Given the description of an element on the screen output the (x, y) to click on. 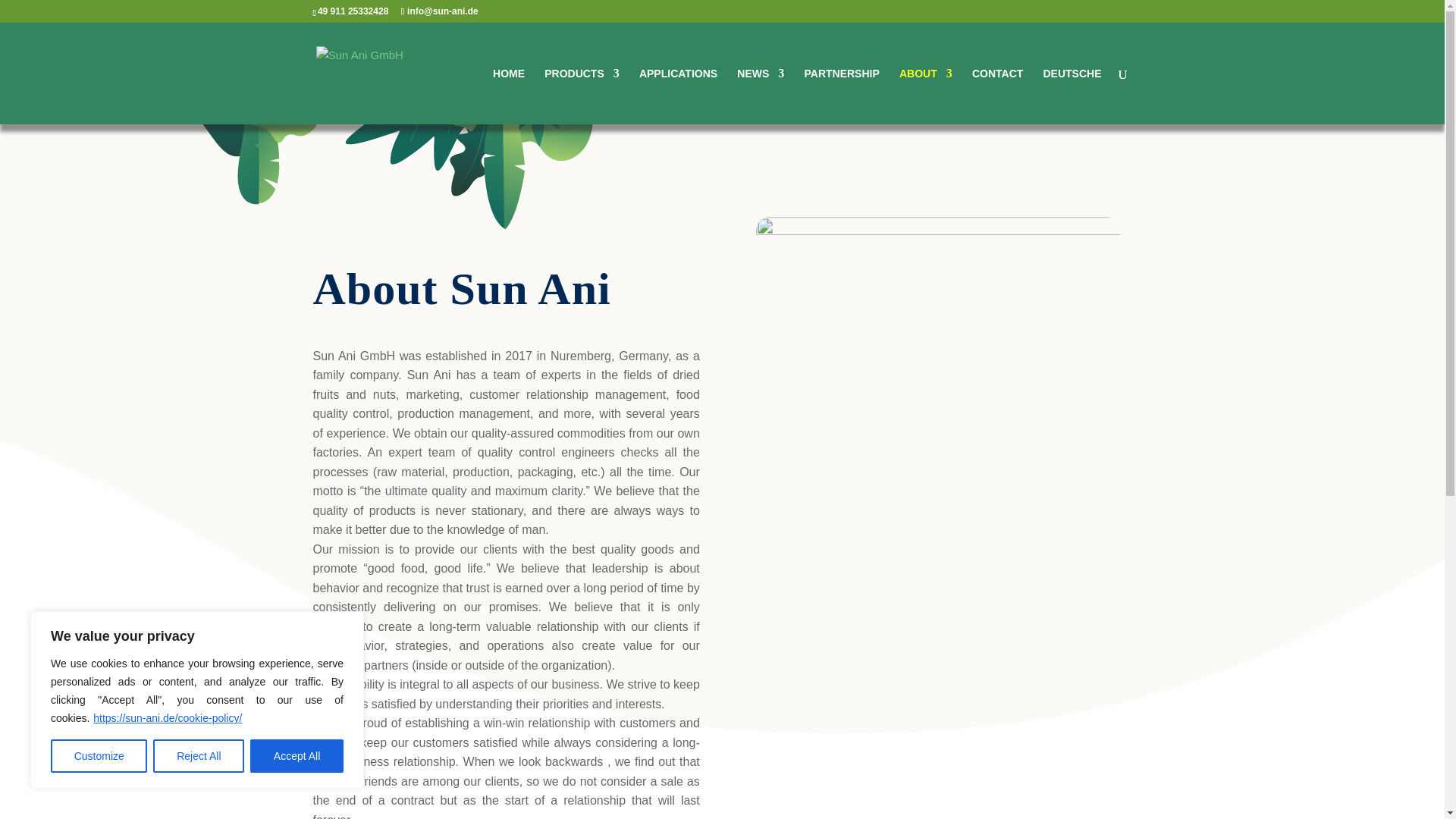
DEUTSCHE (1071, 95)
CONTACT (997, 95)
PARTNERSHIP (841, 95)
NEWS (760, 95)
Reject All (198, 756)
Customize (98, 756)
ABOUT (925, 95)
HOME (508, 95)
APPLICATIONS (678, 95)
PRODUCTS (582, 95)
Accept All (296, 756)
